Given the description of an element on the screen output the (x, y) to click on. 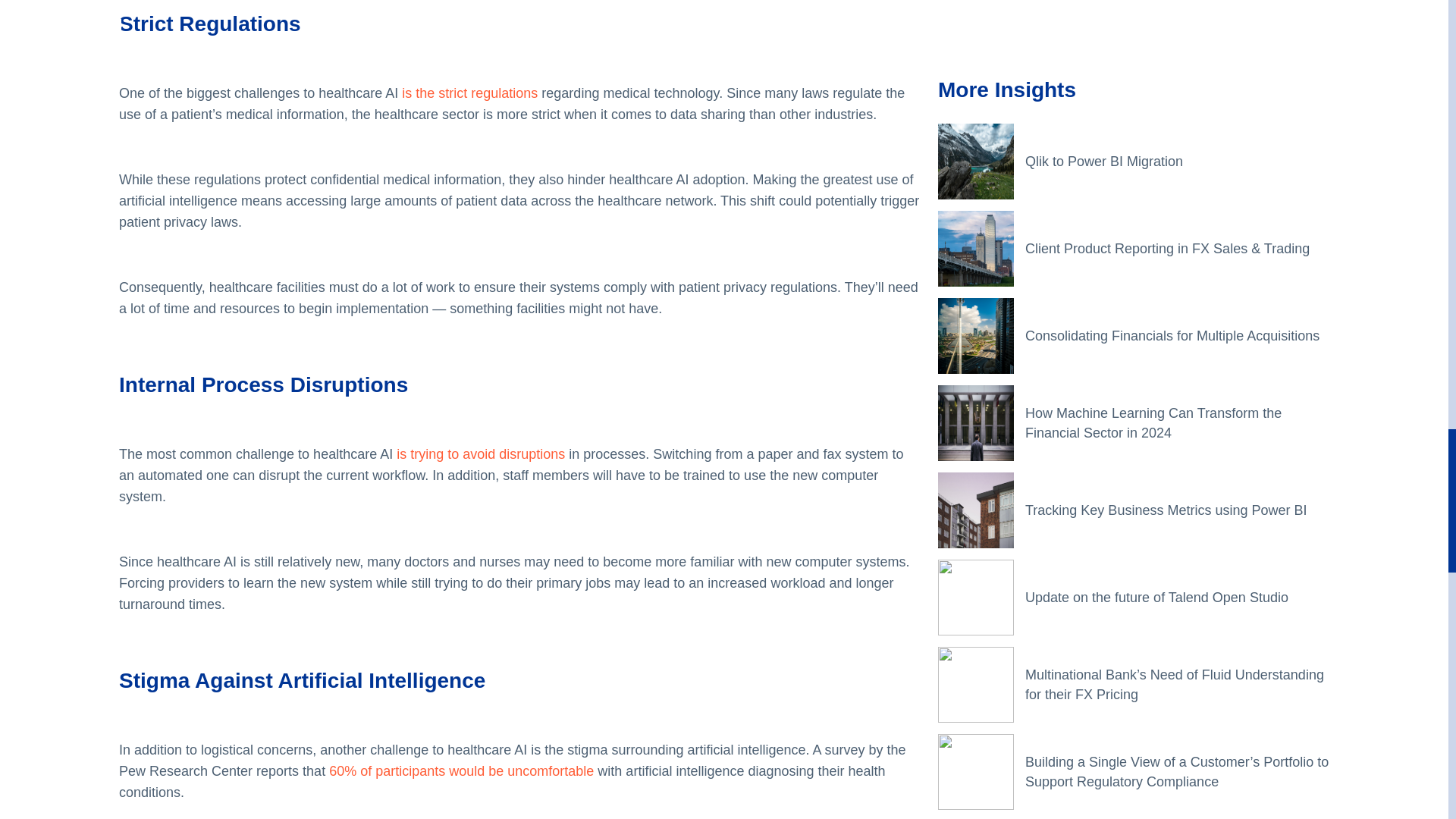
is the strict regulations (469, 92)
is trying to avoid disruptions (478, 453)
